Given the description of an element on the screen output the (x, y) to click on. 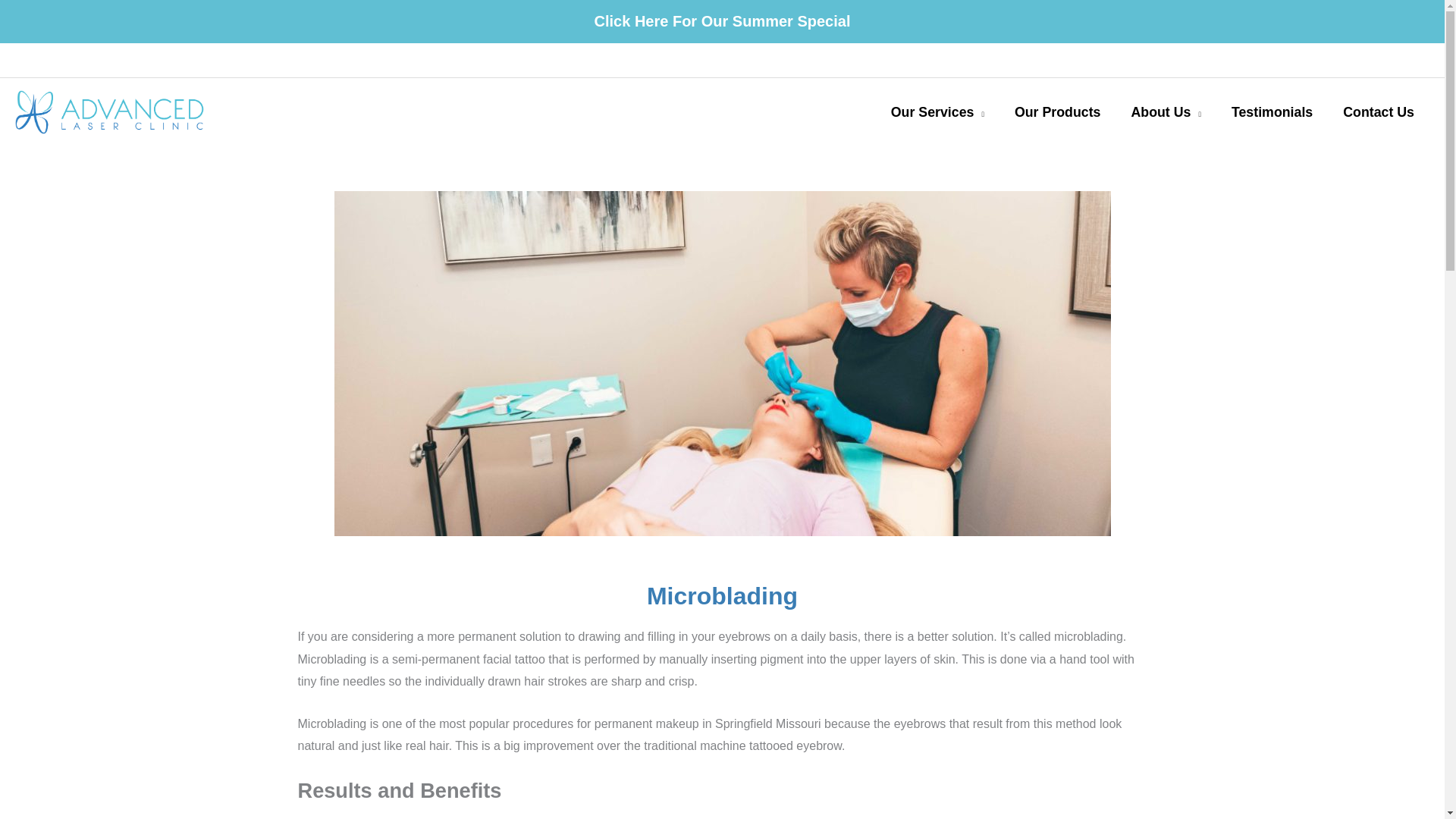
Testimonials (1271, 112)
Our Products (1057, 112)
About Us (1165, 112)
Contact Us (1378, 112)
Our Services (937, 112)
Click Here For Our Summer Special (722, 21)
